Given the description of an element on the screen output the (x, y) to click on. 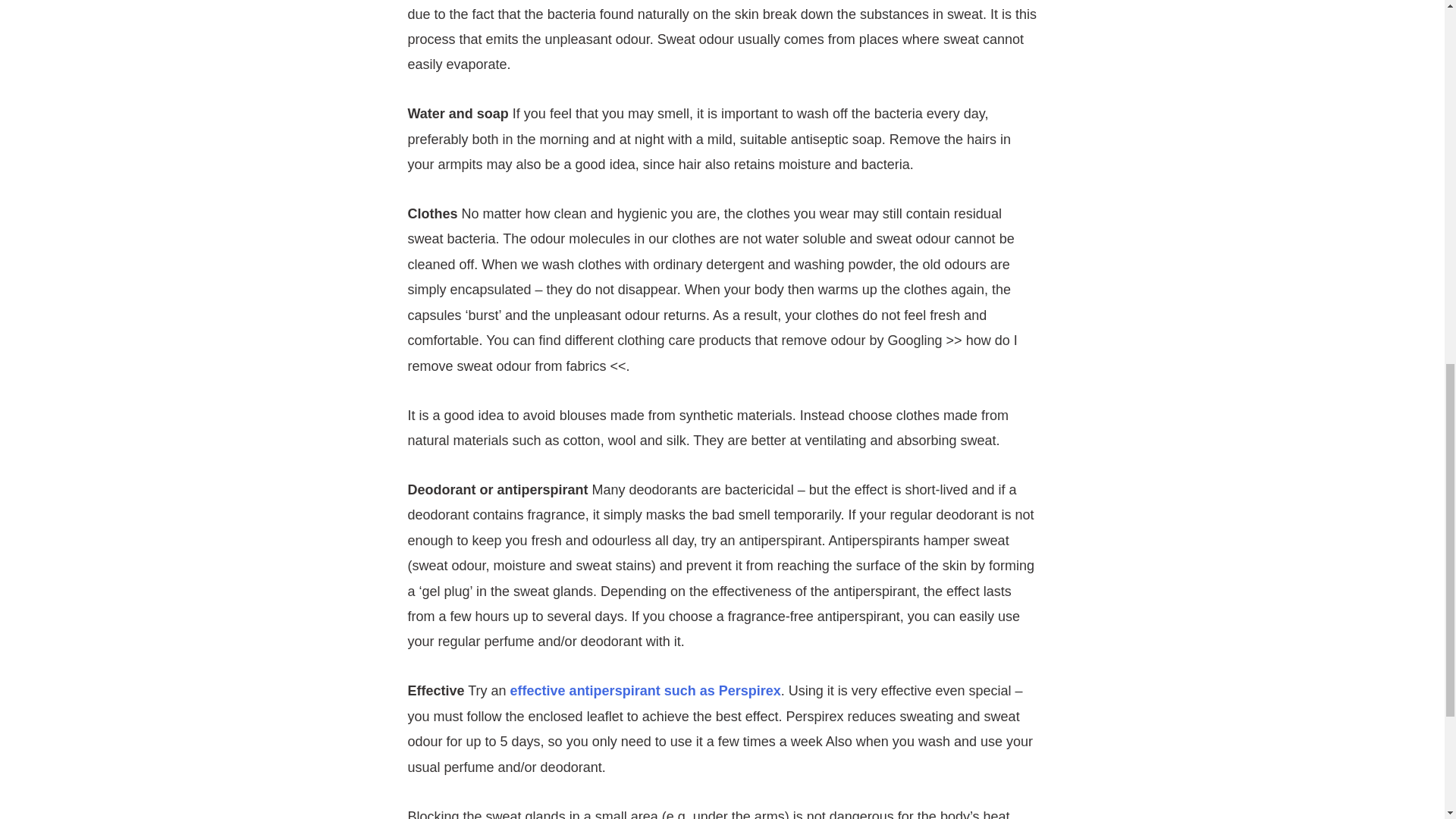
effective antiperspirant such as Perspirex (645, 690)
